Given the description of an element on the screen output the (x, y) to click on. 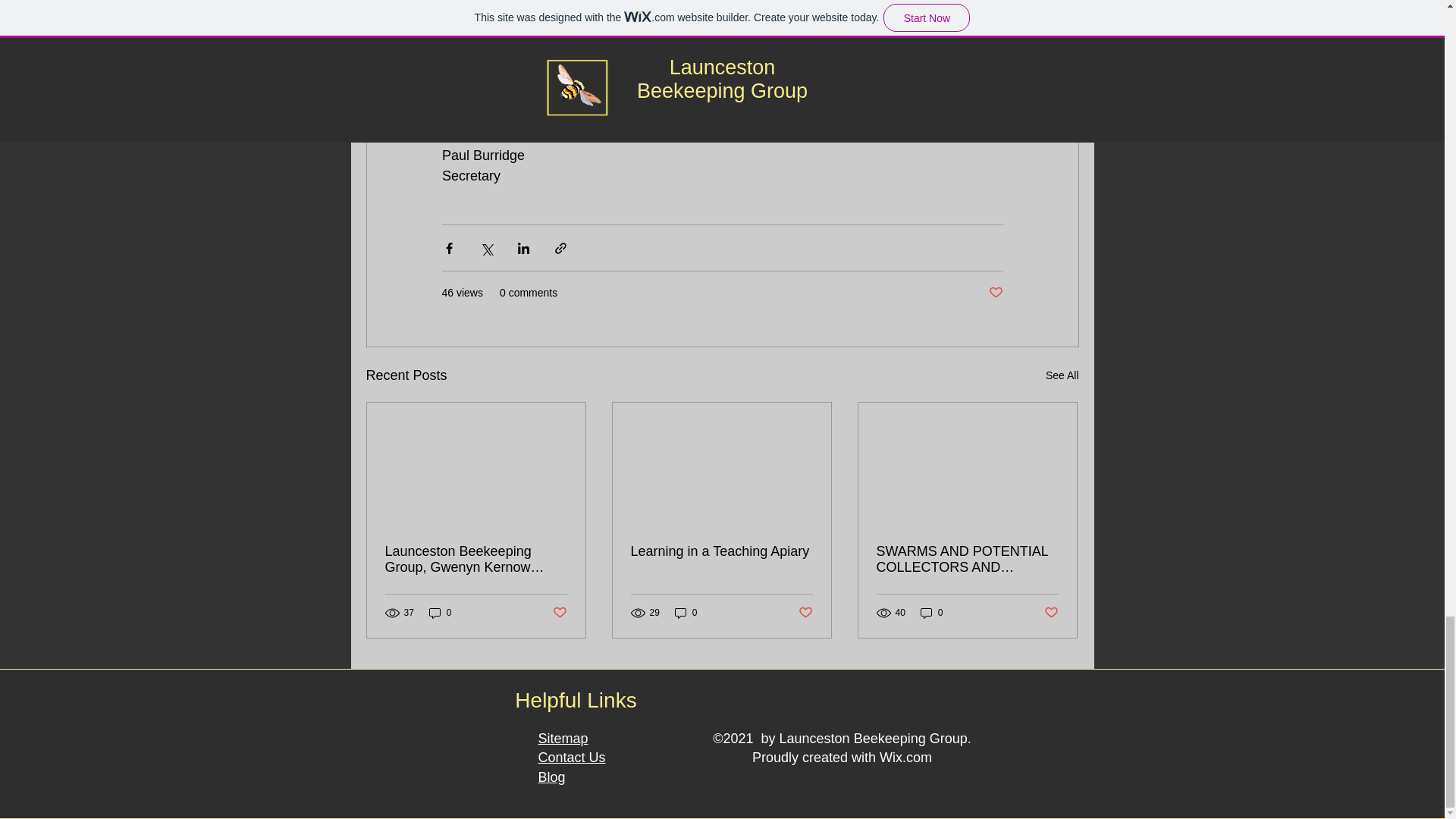
0 (685, 612)
Post not marked as liked (804, 612)
0 (440, 612)
0 (931, 612)
Launceston Beekeeping Group, Gwenyn Kernow August 2022 (476, 559)
SWARMS AND POTENTIAL COLLECTORS AND RECIPIENTS THEREOF (967, 559)
Post not marked as liked (995, 293)
See All (1061, 375)
Learning in a Teaching Apiary (721, 551)
Post not marked as liked (558, 612)
Post not marked as liked (1050, 612)
